Given the description of an element on the screen output the (x, y) to click on. 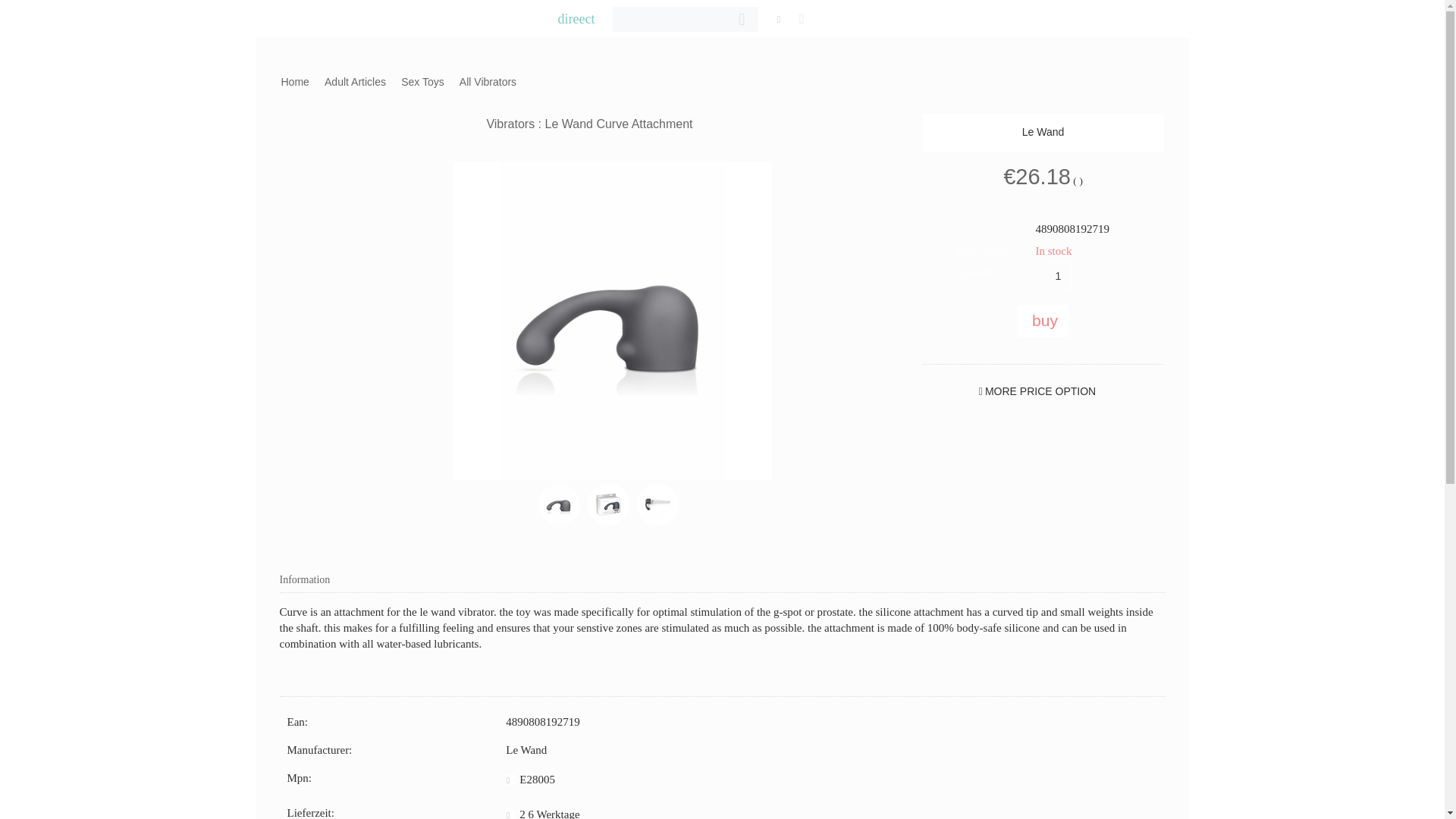
buy (1042, 320)
Le Wand (1043, 132)
direect (575, 18)
Vibrators : Le Wand Curve Attachment (611, 320)
Vibrators : Le Wand Curve Attachment (608, 504)
Adult Articles (355, 81)
MORE PRICE OPTION (1040, 390)
1 (1058, 275)
All Vibrators (488, 81)
